Given the description of an element on the screen output the (x, y) to click on. 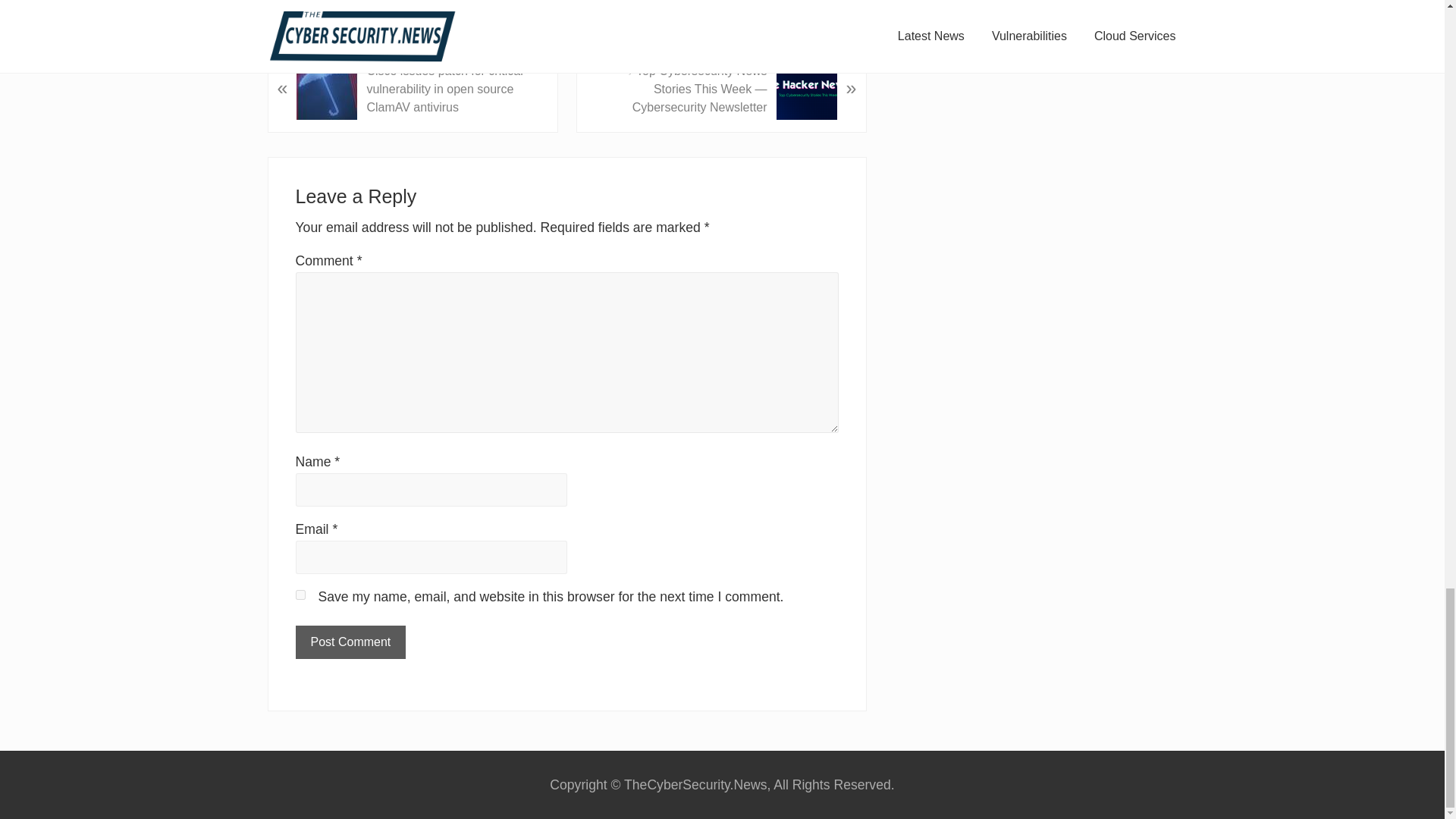
yes (300, 594)
Post Comment (350, 642)
Post Comment (350, 642)
